Given the description of an element on the screen output the (x, y) to click on. 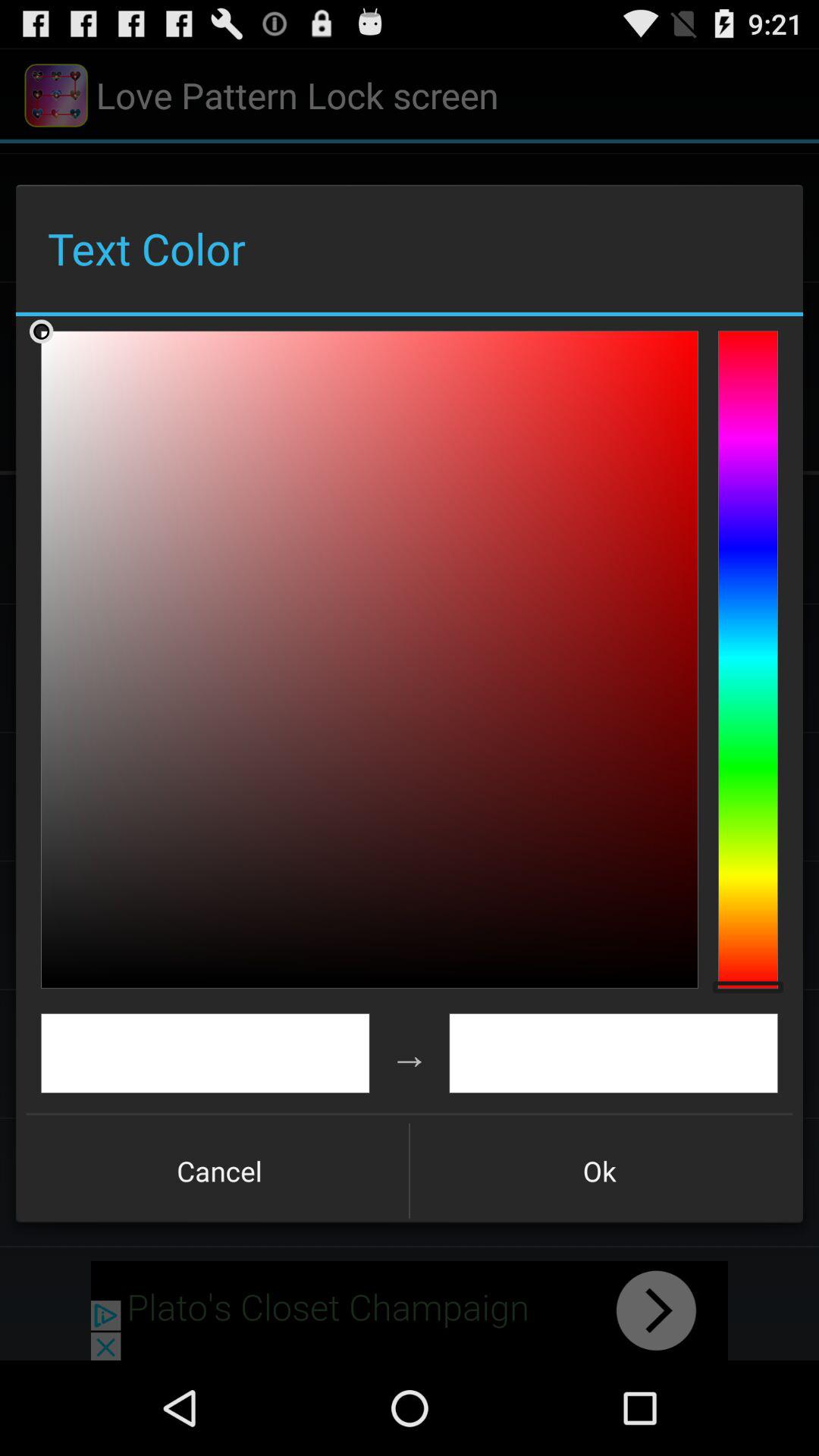
click cancel item (219, 1170)
